Given the description of an element on the screen output the (x, y) to click on. 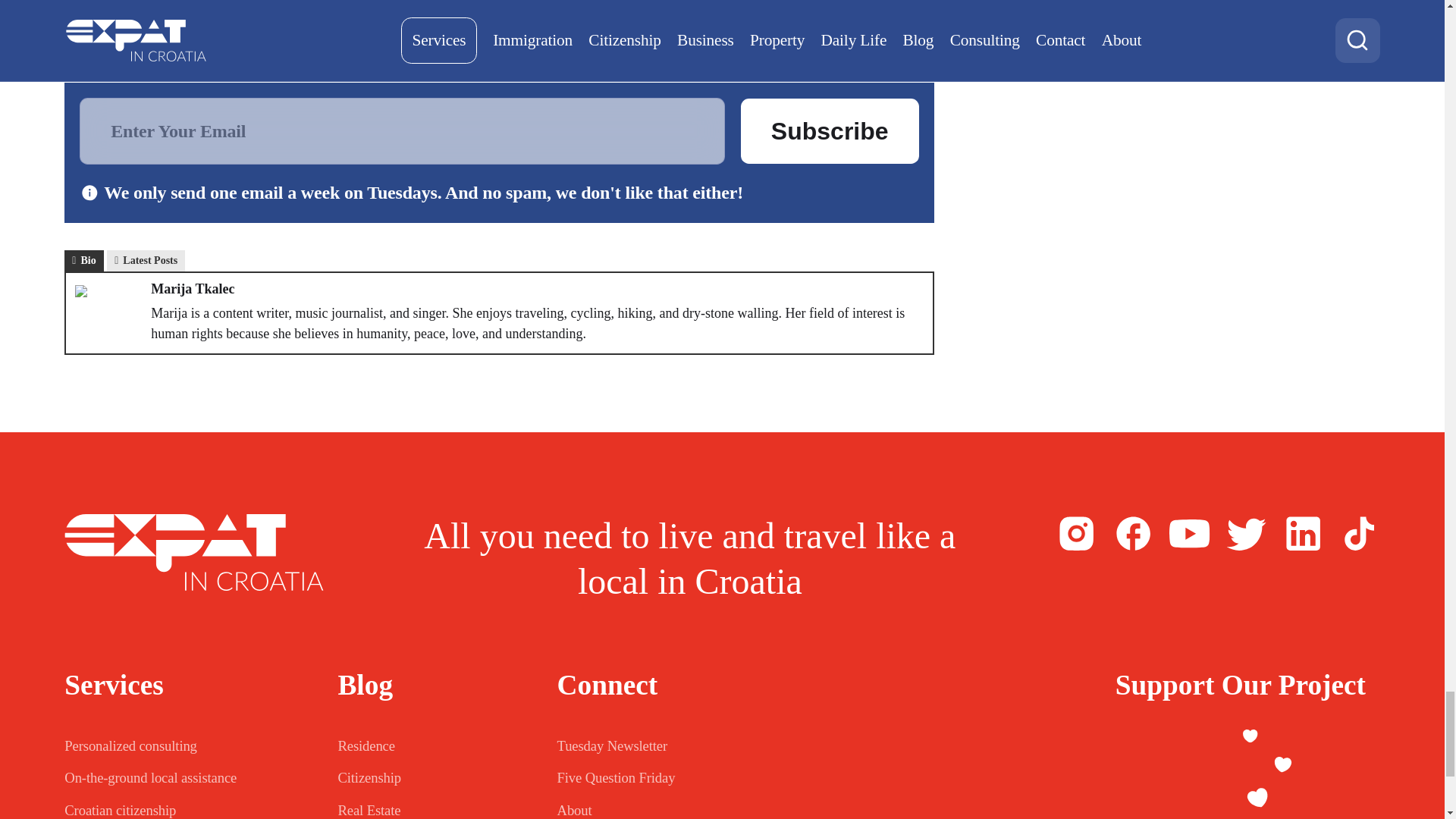
Subscribe (829, 130)
